Given the description of an element on the screen output the (x, y) to click on. 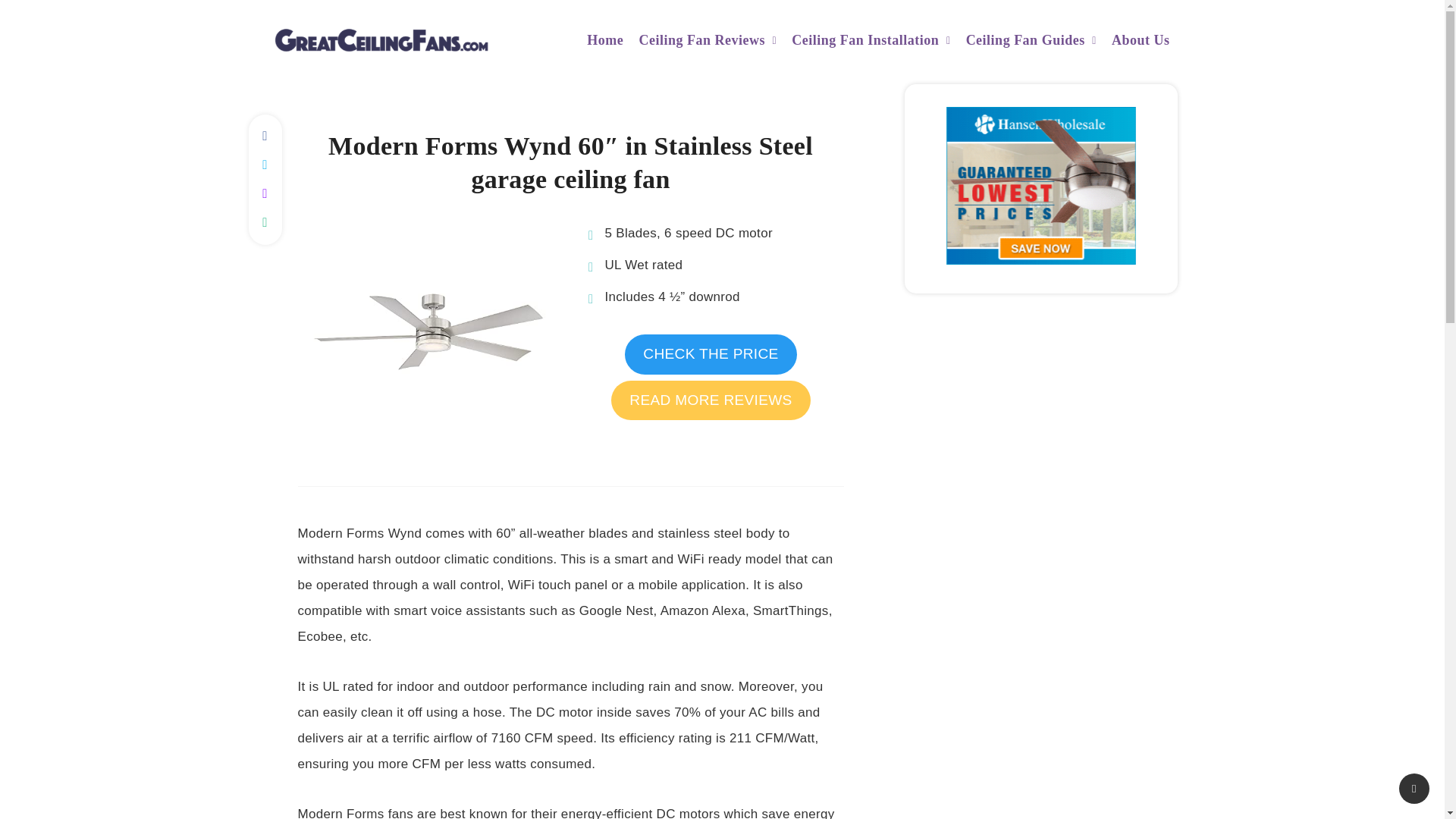
Ceiling Fan Installation (865, 42)
Ceiling Fan Reviews (702, 42)
About Us (1141, 42)
Home (604, 42)
Ceiling Fan Guides (1025, 42)
CHECK THE PRICE (710, 353)
READ MORE REVIEWS (710, 400)
